Given the description of an element on the screen output the (x, y) to click on. 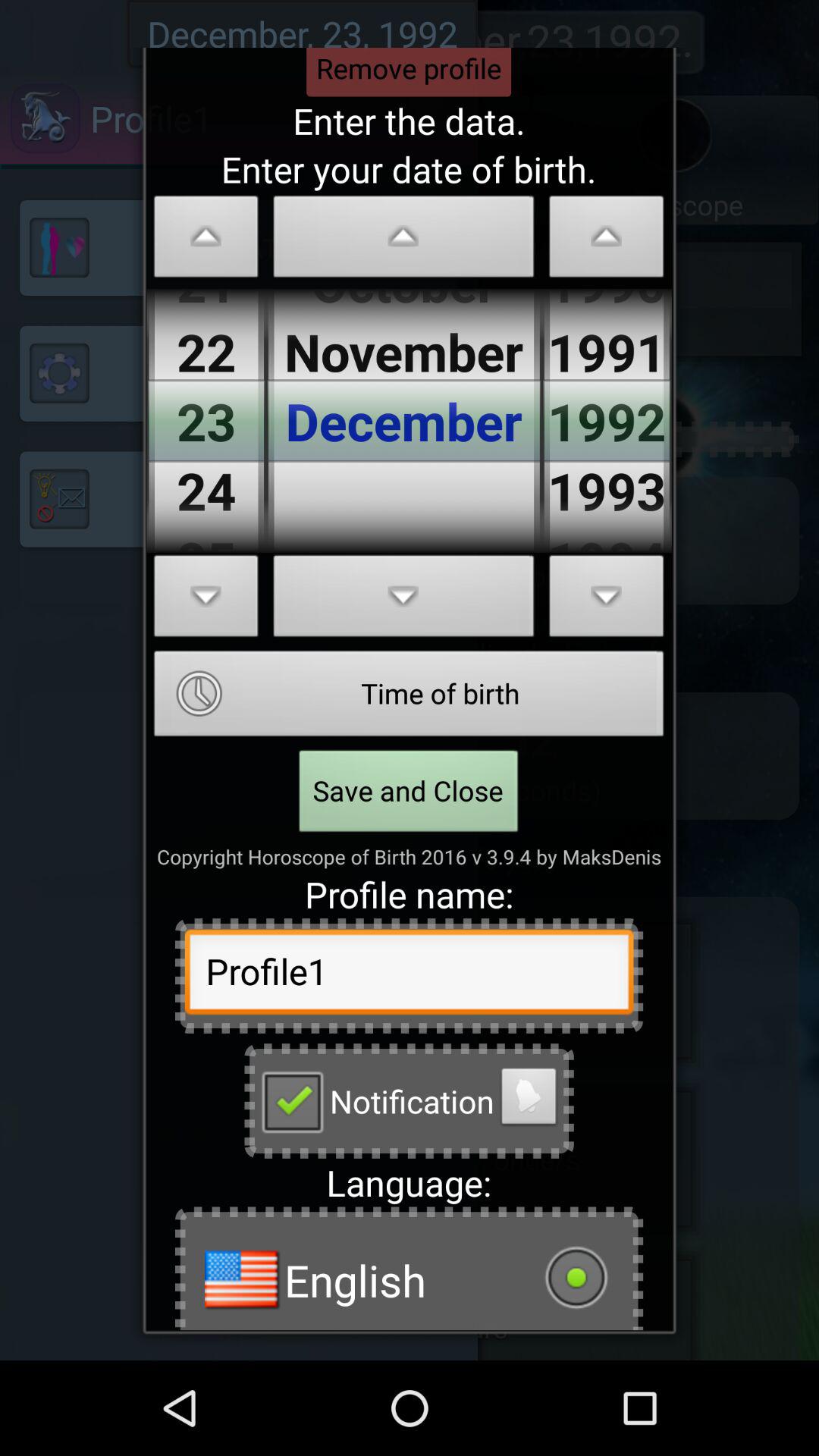
add more (404, 600)
